Given the description of an element on the screen output the (x, y) to click on. 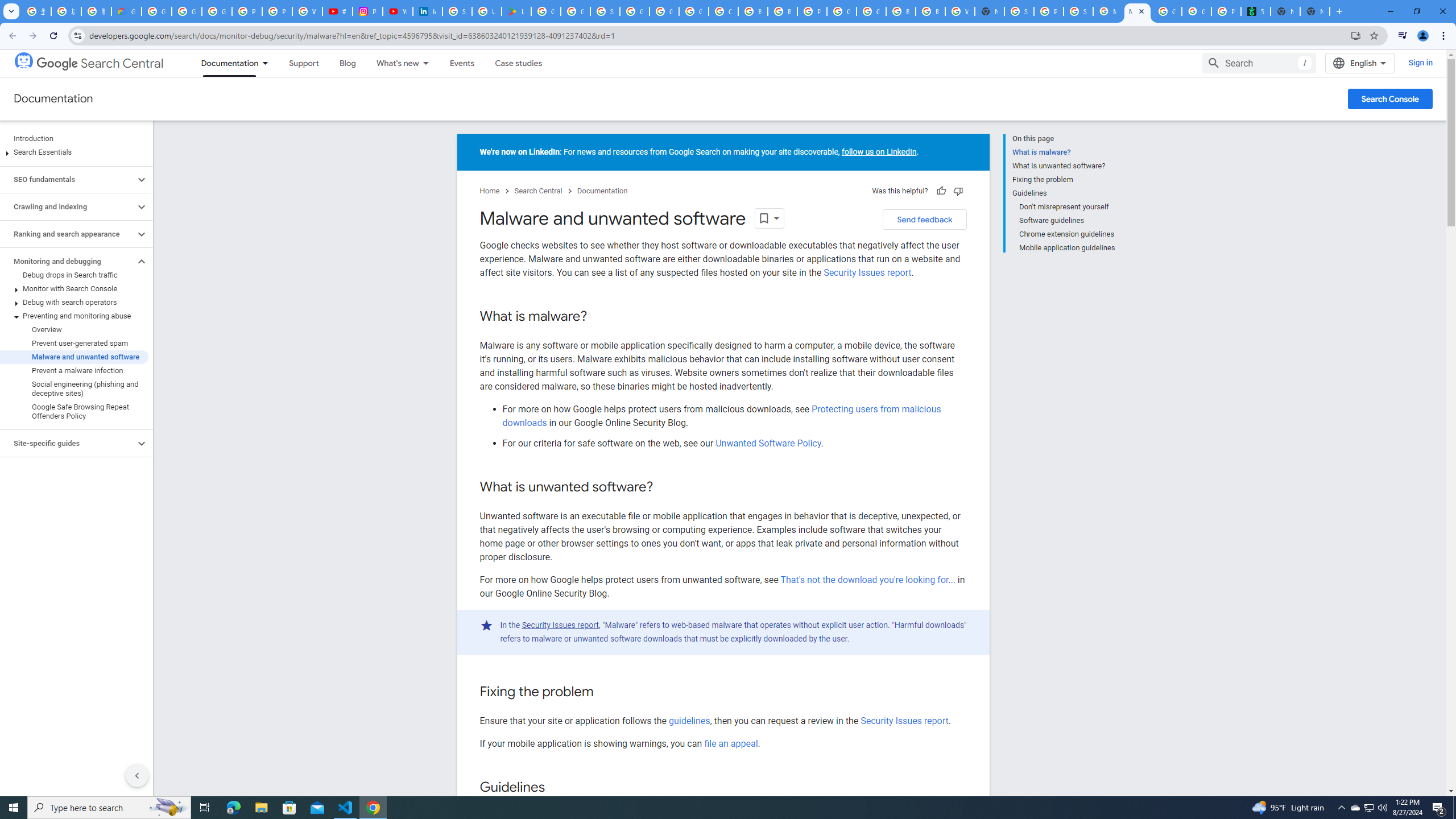
Home (489, 191)
Google (57, 63)
Software guidelines (1067, 220)
Browse Chrome as a guest - Computer - Google Chrome Help (900, 11)
Dropdown menu for Documentation (268, 62)
#nbabasketballhighlights - YouTube (337, 11)
Sign in - Google Accounts (604, 11)
Copy link to this section: What is malware? (598, 316)
Blog (347, 62)
